Given the description of an element on the screen output the (x, y) to click on. 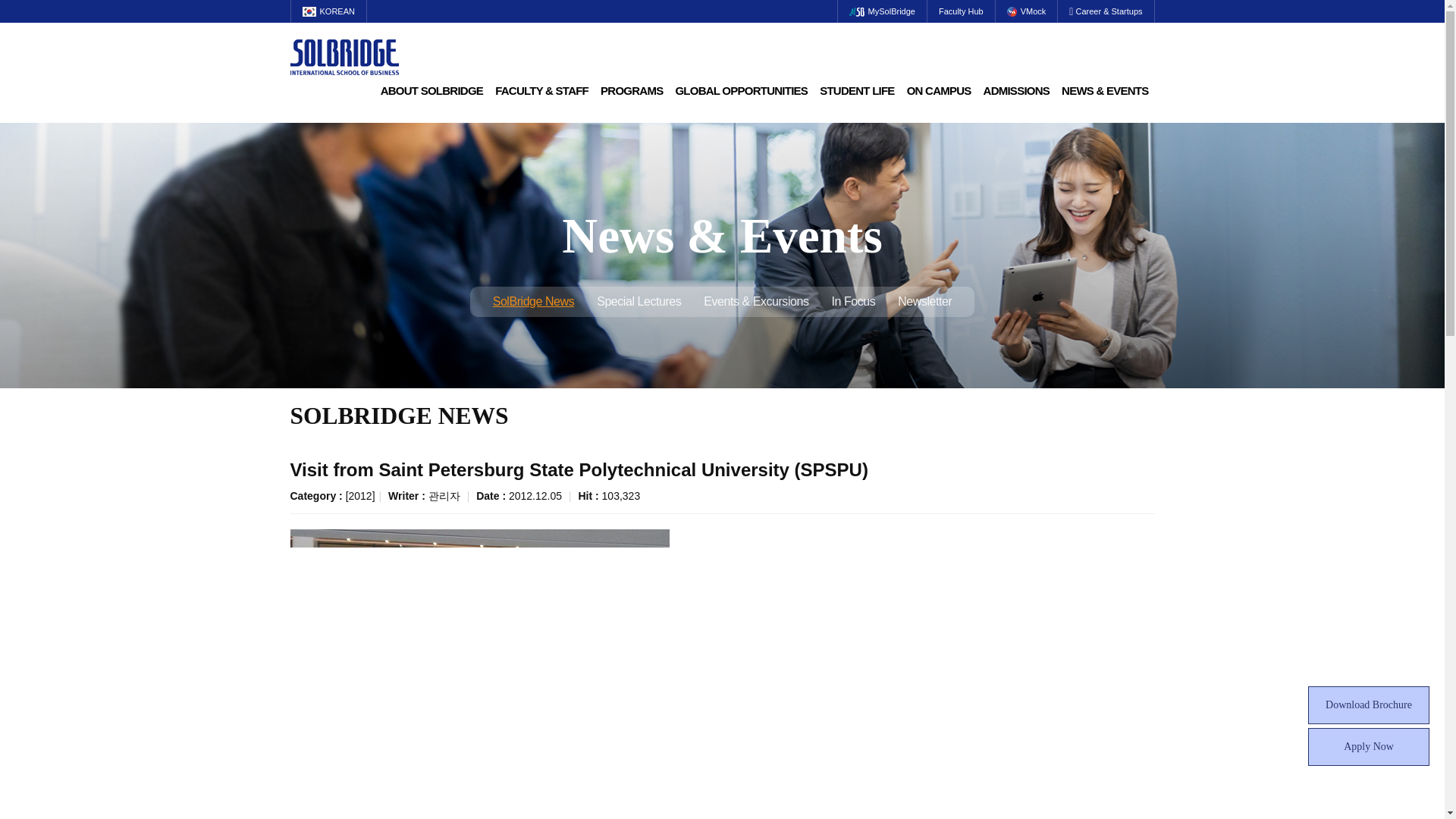
Faculty Hub (961, 10)
PROGRAMS (631, 91)
ABOUT SOLBRIDGE (431, 91)
GLOBAL OPPORTUNITIES (740, 91)
KOREAN (327, 10)
VMock (1026, 10)
MySolBridge (881, 10)
STUDENT LIFE (857, 91)
